Given the description of an element on the screen output the (x, y) to click on. 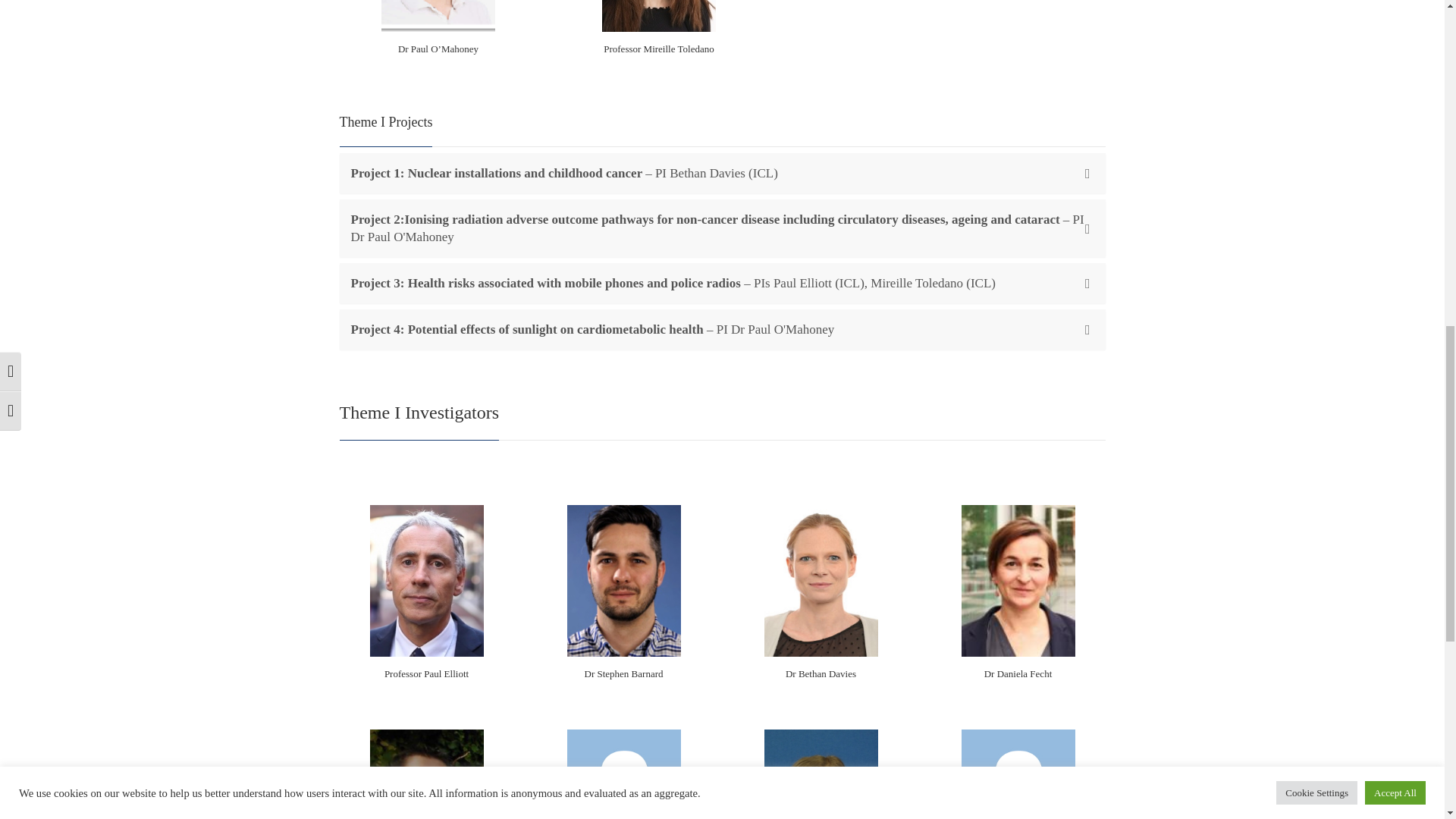
Professor Mireille Toledano (658, 48)
